Given the description of an element on the screen output the (x, y) to click on. 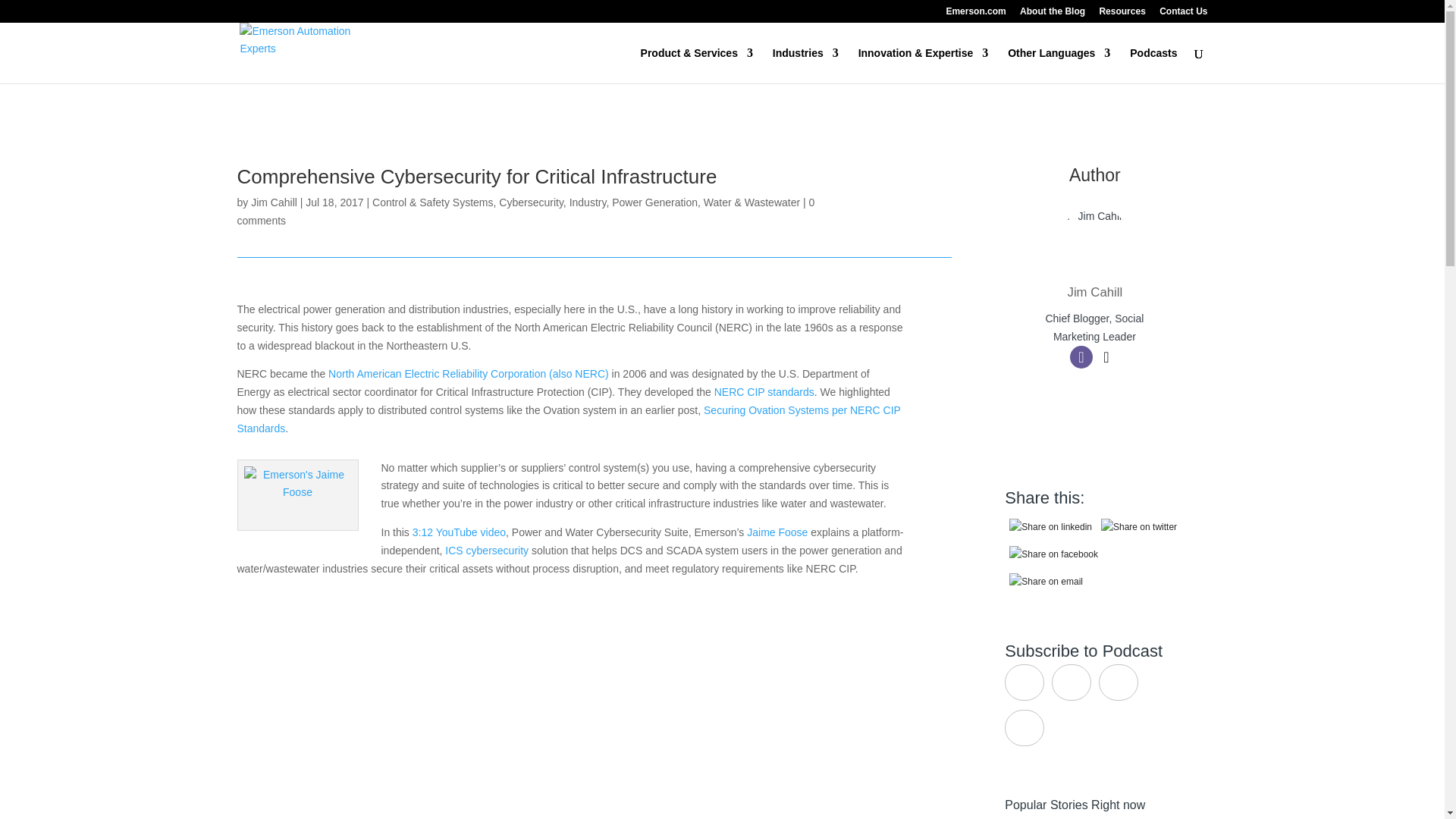
Jim Cahill (1094, 292)
Emerson.com (975, 14)
Industries (805, 65)
email (1045, 582)
About the Blog (1052, 14)
linkedin (1050, 527)
Power and Water Cybersecurity Suite (570, 703)
Contact Us (1182, 14)
facebook (1053, 554)
Posts by Jim Cahill (273, 202)
